Given the description of an element on the screen output the (x, y) to click on. 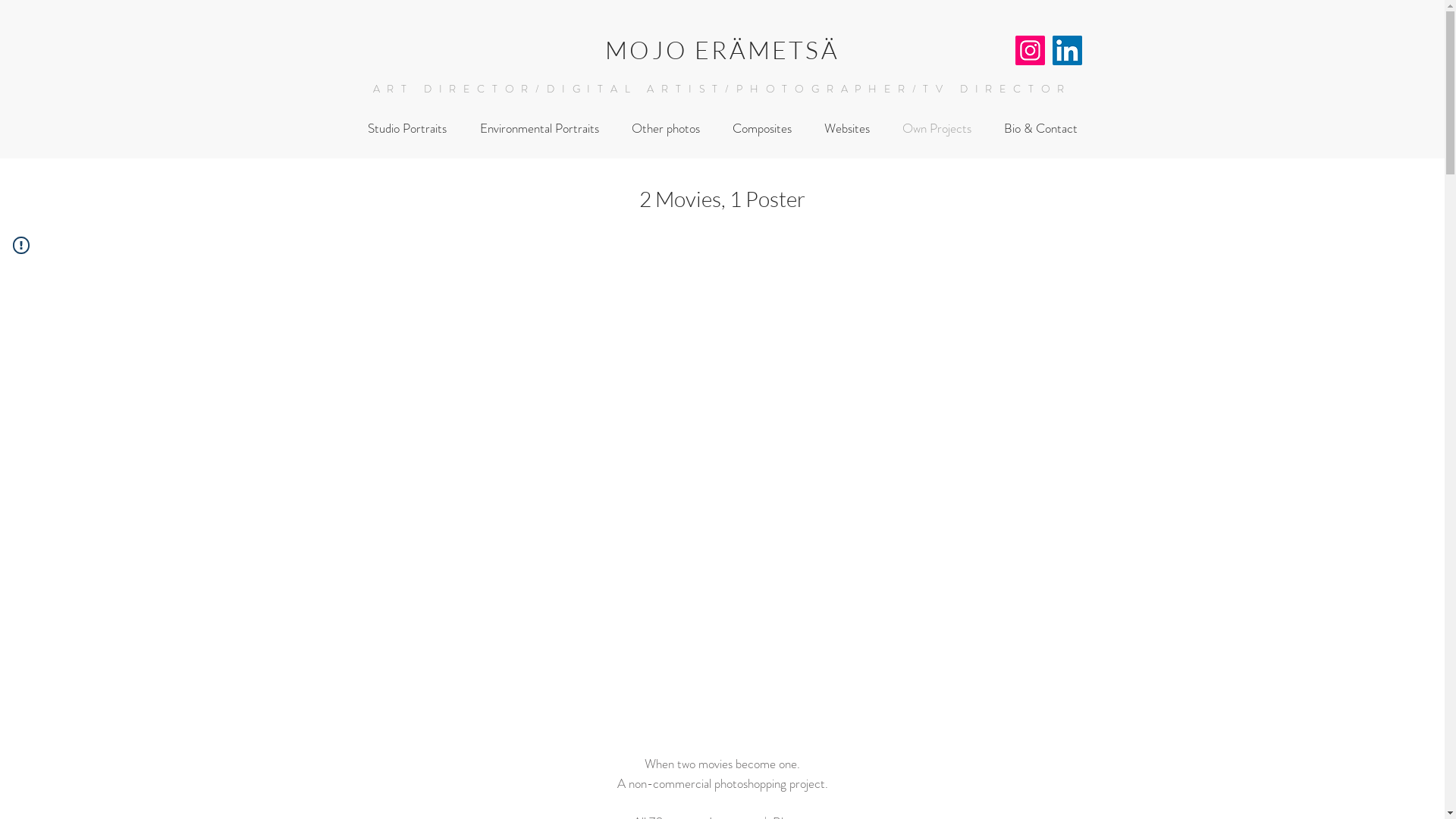
Environmental Portraits Element type: text (538, 128)
ART DIRECTOR/DIGITAL ARTIST/PHOTOGRAPHER/TV DIRECTOR Element type: text (722, 88)
Studio Portraits Element type: text (406, 128)
Own Projects Element type: text (936, 128)
Other photos Element type: text (665, 128)
Composites Element type: text (761, 128)
Websites Element type: text (847, 128)
Bio & Contact Element type: text (1040, 128)
